Given the description of an element on the screen output the (x, y) to click on. 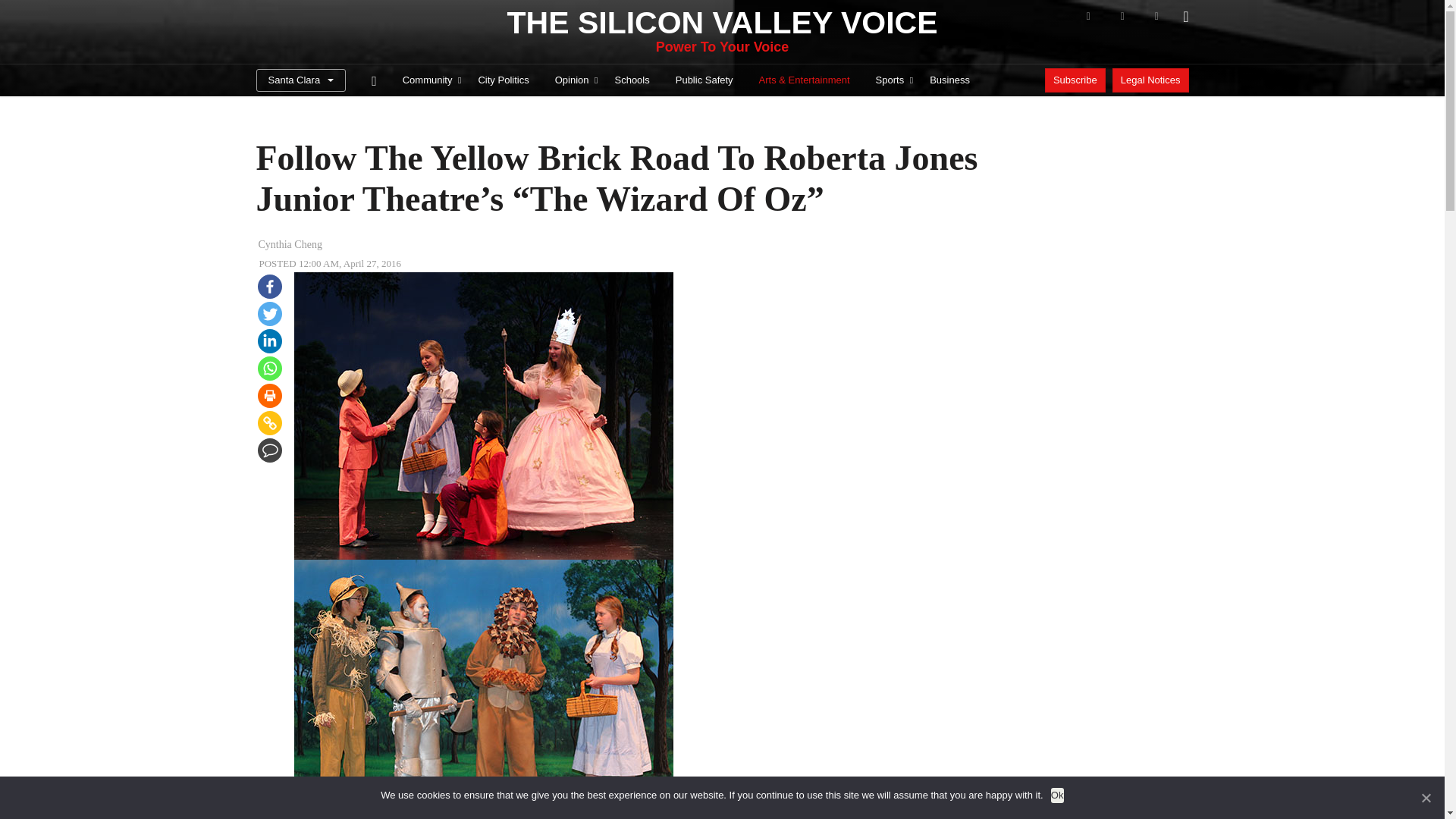
Copy Link (269, 422)
Facebook (269, 286)
ion-social-facebook (1088, 15)
Posts by Cynthia Cheng (289, 244)
ion-social-twitter (1122, 15)
THE SILICON VALLEY VOICE (721, 22)
Whatsapp (269, 368)
Linkedin (269, 340)
Comment (269, 450)
Twitter (269, 313)
Print (269, 395)
Santa Clara (301, 80)
Community (427, 80)
ion-social-instagram (1155, 15)
